Given the description of an element on the screen output the (x, y) to click on. 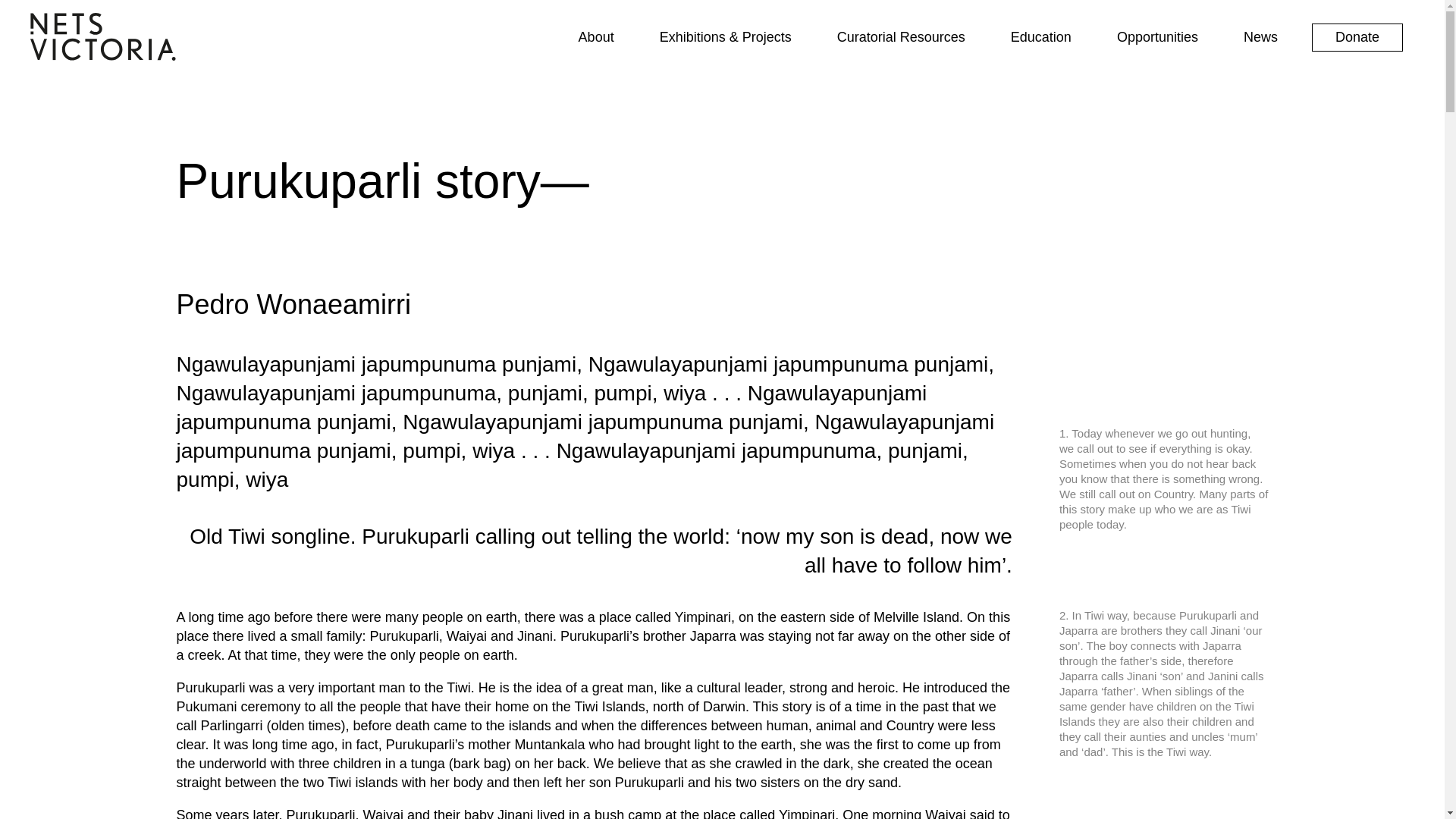
NETS Victoria (103, 55)
Curatorial Resources (900, 37)
Opportunities (1157, 37)
Donate (1357, 37)
News (1260, 37)
About (596, 37)
Education (1041, 37)
